Given the description of an element on the screen output the (x, y) to click on. 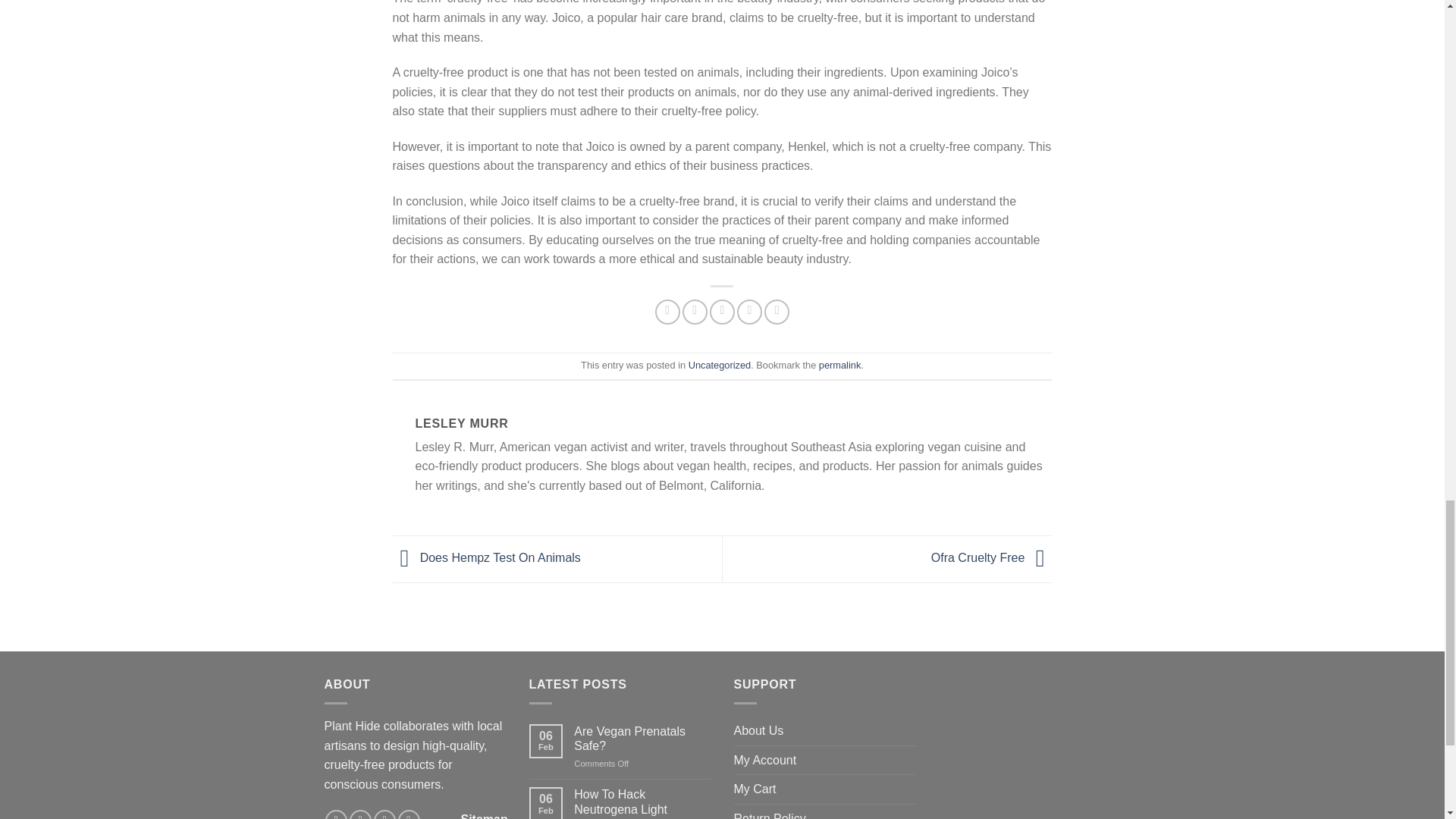
Follow on Facebook (335, 814)
Does Hempz Test On Animals (486, 558)
Ofra Cruelty Free (991, 558)
Share on LinkedIn (776, 311)
permalink (839, 365)
Uncategorized (719, 365)
Share on Facebook (667, 311)
Pin on Pinterest (748, 311)
Email to a Friend (722, 311)
Share on Twitter (694, 311)
Permalink to Is Joico Cruelty Free (839, 365)
